Given the description of an element on the screen output the (x, y) to click on. 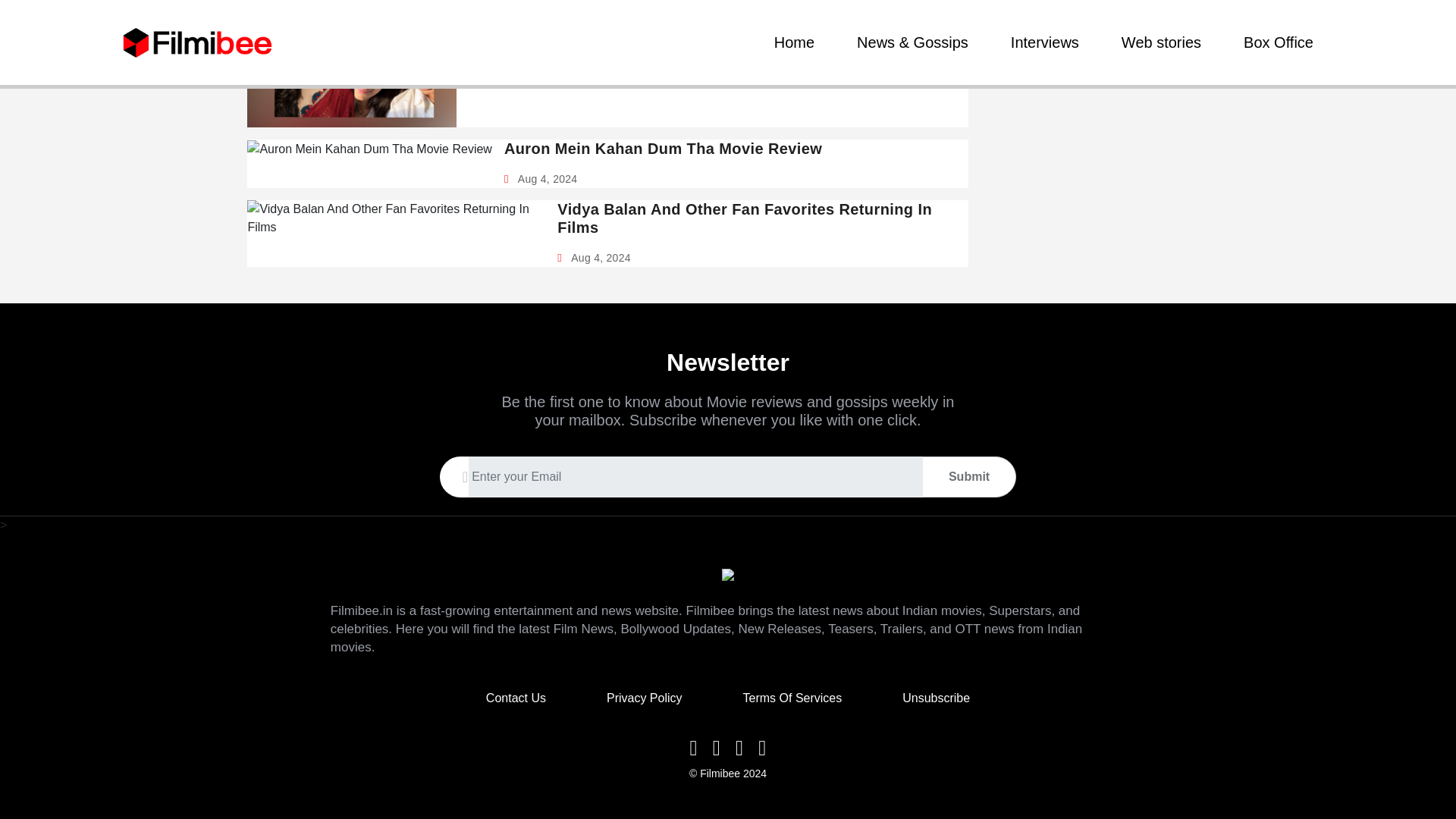
Shraddha Kapoor And Rahul Mody Break-up? (639, 48)
Submit (968, 477)
Shraddha Kapoor And Rahul Mody Break-up? (639, 48)
Auron Mein Kahan Dum Tha Movie Review (662, 148)
Unsubscribe (935, 698)
Terms Of Services (792, 698)
Vidya Balan And Other Fan Favorites Returning In Films (756, 217)
Auron Mein Kahan Dum Tha Movie Review (662, 148)
Privacy Policy (644, 698)
Vidya Balan And Other Fan Favorites Returning In Films (756, 217)
Contact Us (516, 698)
